Given the description of an element on the screen output the (x, y) to click on. 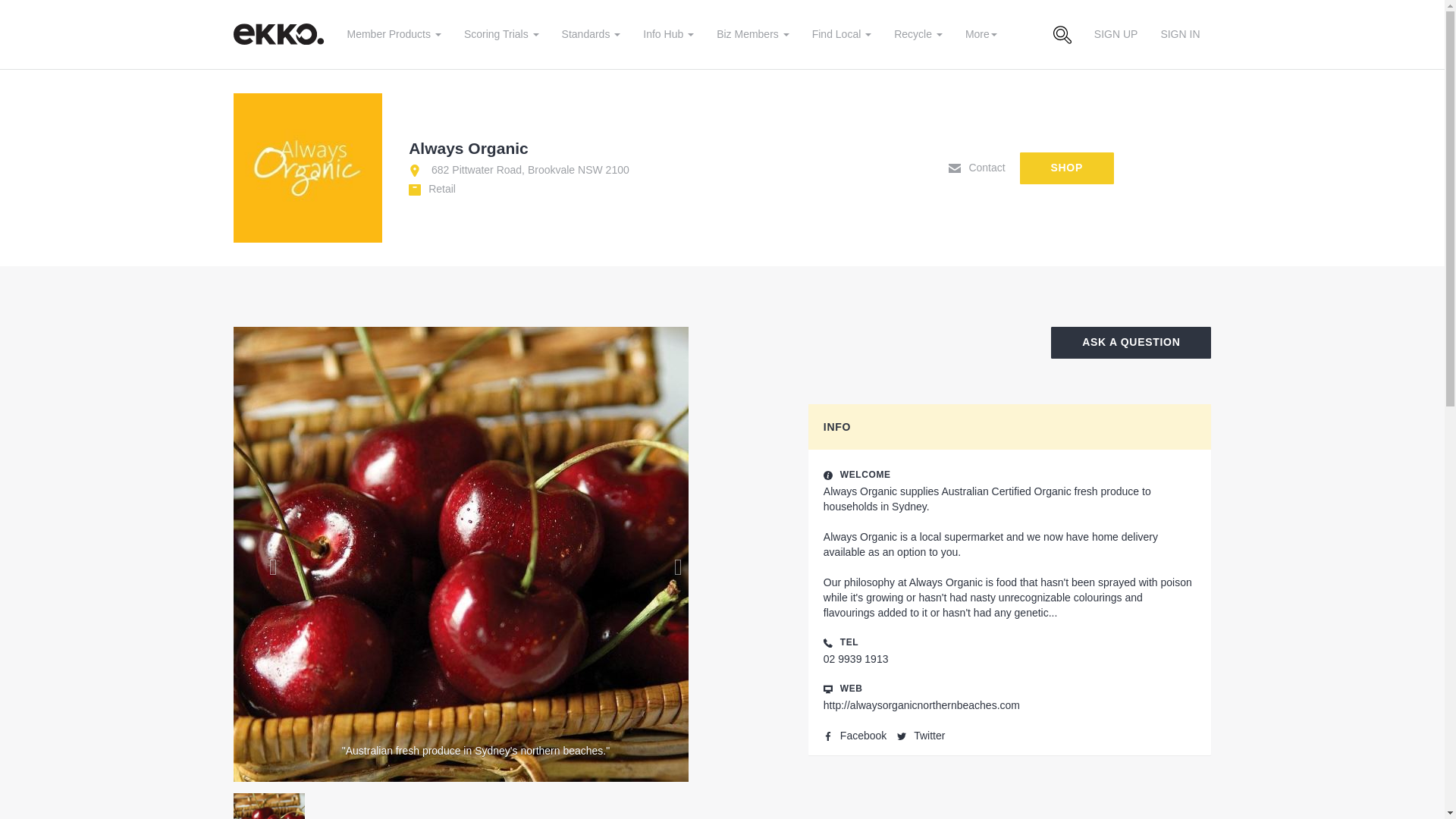
Skip to main content (10, 10)
Ekko (281, 33)
Scoring Trials (501, 33)
Member Products (392, 33)
Standards (590, 33)
Info Hub (667, 33)
